Given the description of an element on the screen output the (x, y) to click on. 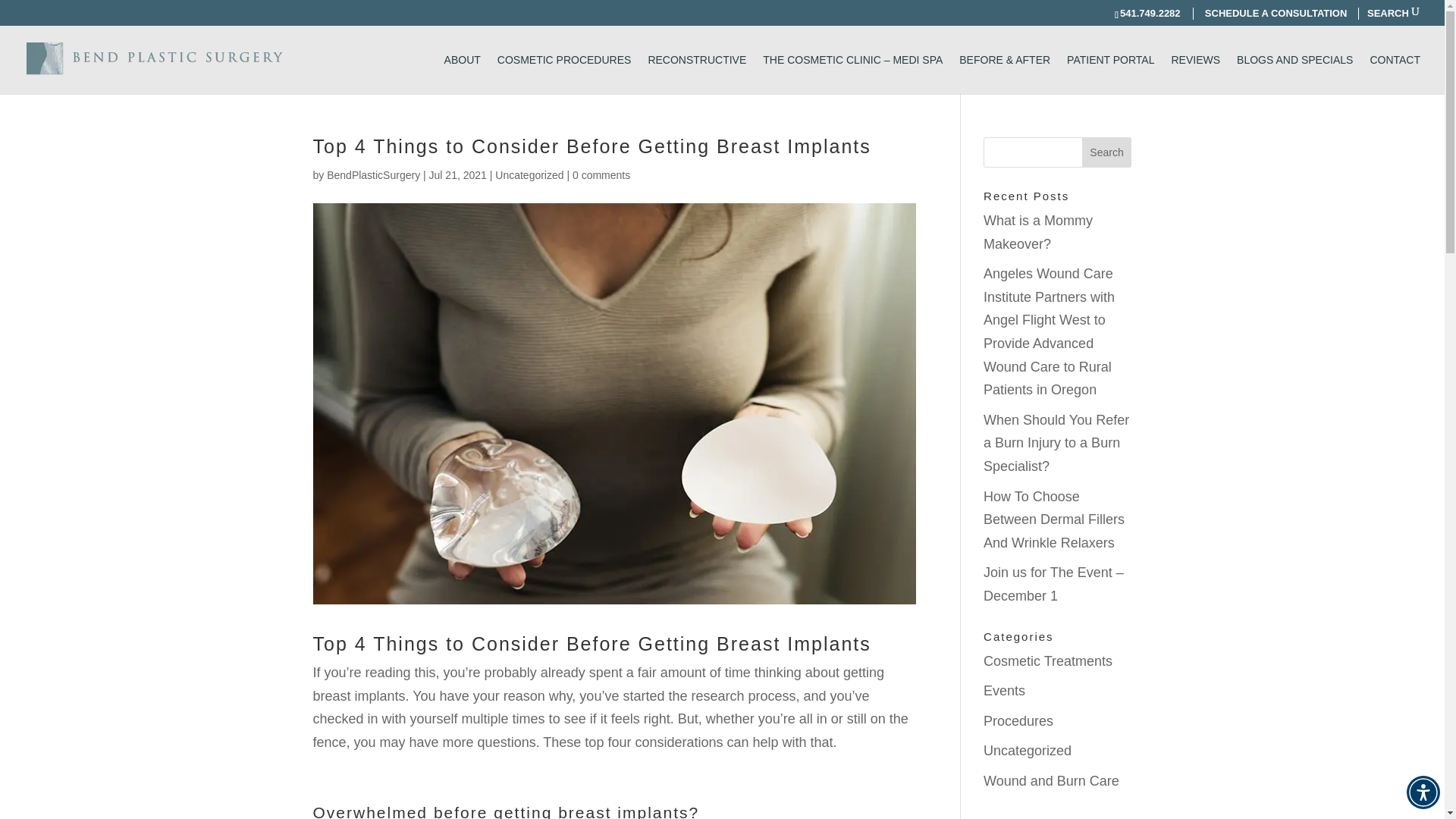
Search (1106, 152)
SCHEDULE A CONSULTATION (1275, 12)
Cosmetic Treatments (1048, 661)
BLOGS AND SPECIALS (1294, 74)
Search (1106, 152)
When Should You Refer a Burn Injury to a Burn Specialist? (1056, 443)
COSMETIC PROCEDURES (564, 74)
BendPlasticSurgery (373, 174)
ABOUT (462, 74)
Events (1004, 690)
0 comments (601, 174)
Uncategorized (529, 174)
What is a Mommy Makeover? (1038, 231)
CONTACT (1395, 74)
Accessibility Menu (1422, 792)
